Given the description of an element on the screen output the (x, y) to click on. 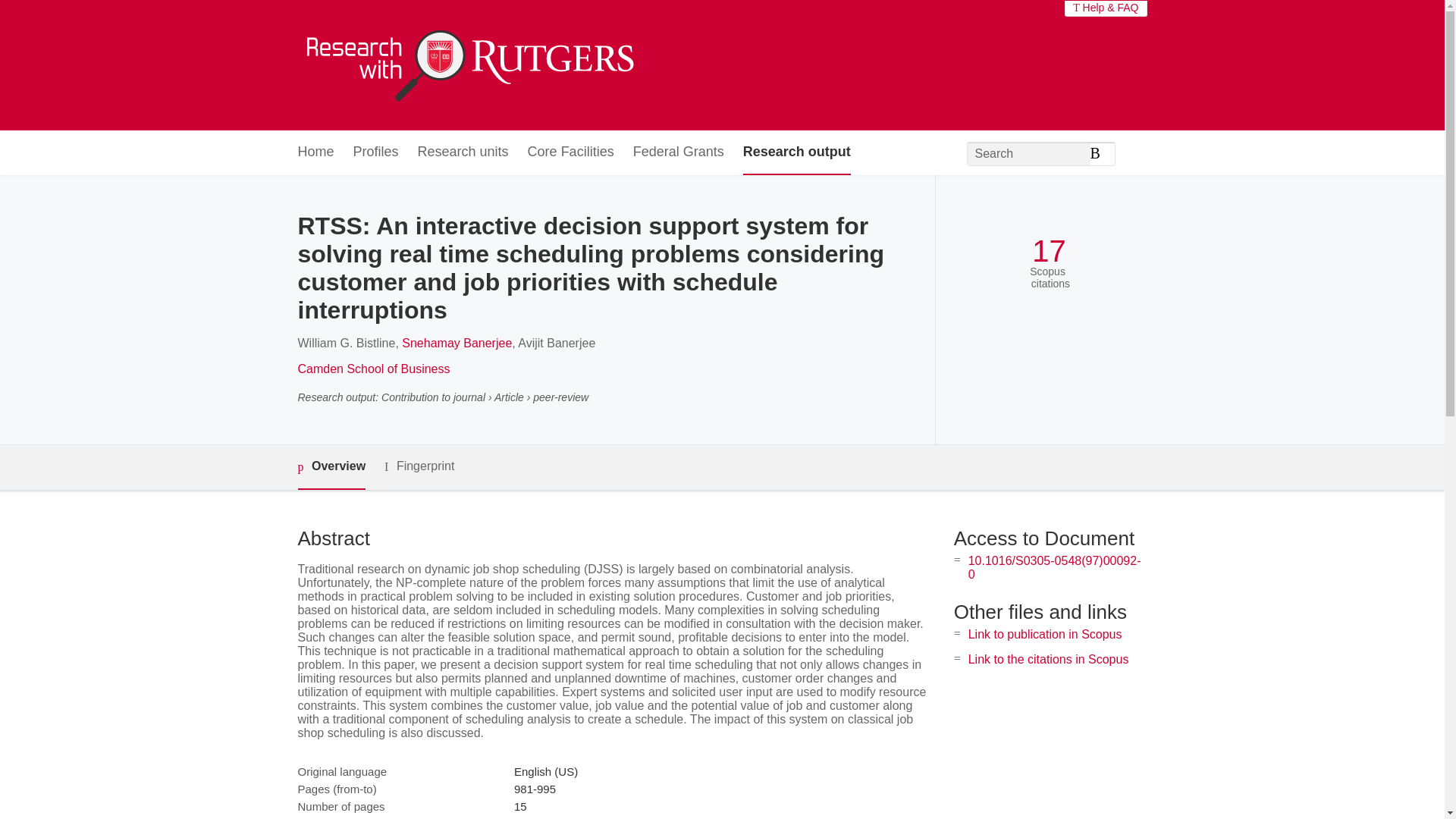
17 (1048, 251)
Fingerprint (419, 466)
Research output (796, 152)
Profiles (375, 152)
Research units (462, 152)
Link to the citations in Scopus (1048, 658)
Federal Grants (678, 152)
Overview (331, 467)
Camden School of Business (373, 368)
